Given the description of an element on the screen output the (x, y) to click on. 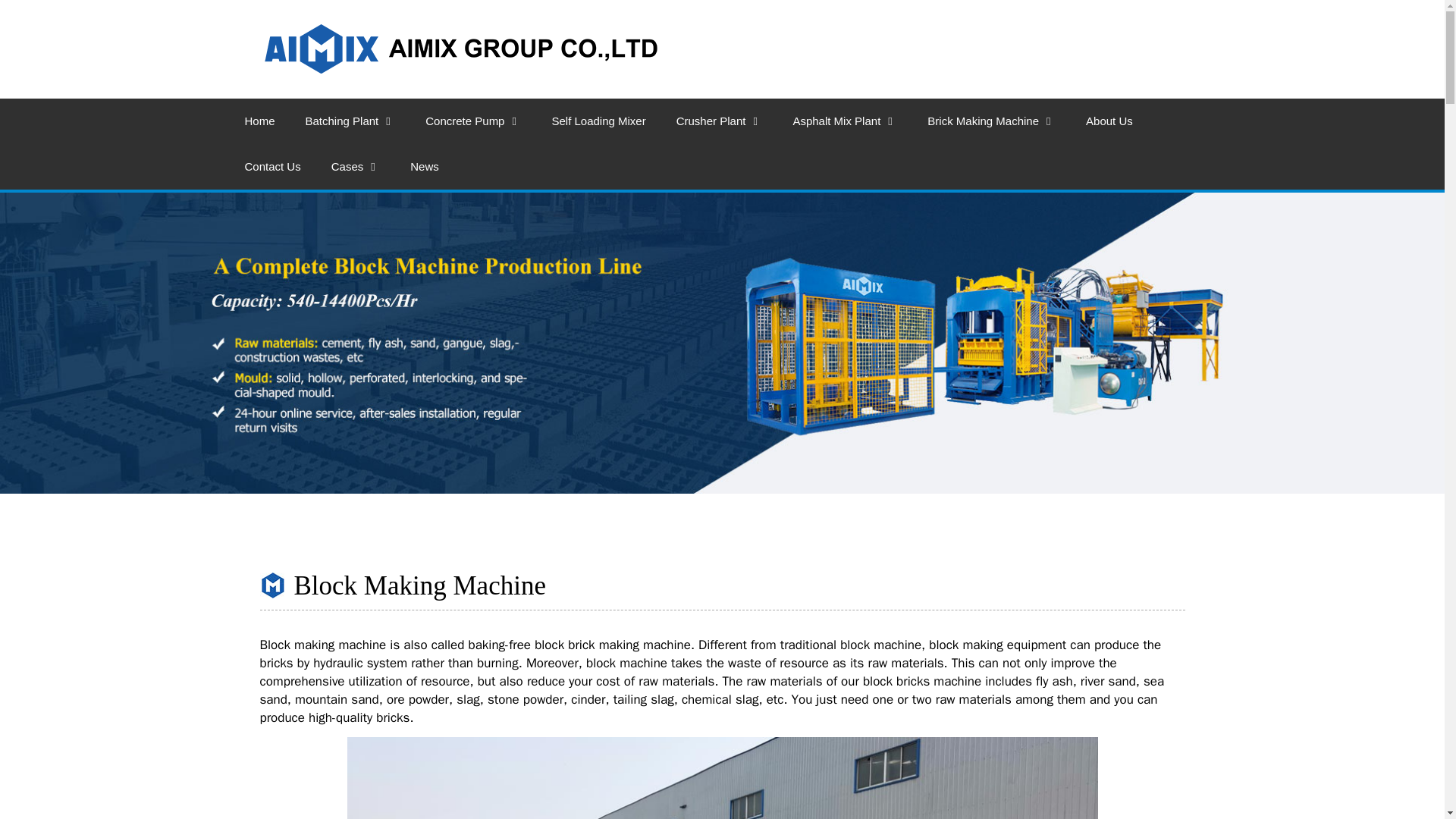
Crusher Plant (719, 121)
Batching Plant (349, 121)
Contact Us (271, 166)
About Us (1109, 121)
Self Loading Mixer (598, 121)
Home (258, 121)
Concrete Pump (472, 121)
Brick Making Machine (991, 121)
Asphalt Mix Plant (844, 121)
Cases (355, 166)
